Given the description of an element on the screen output the (x, y) to click on. 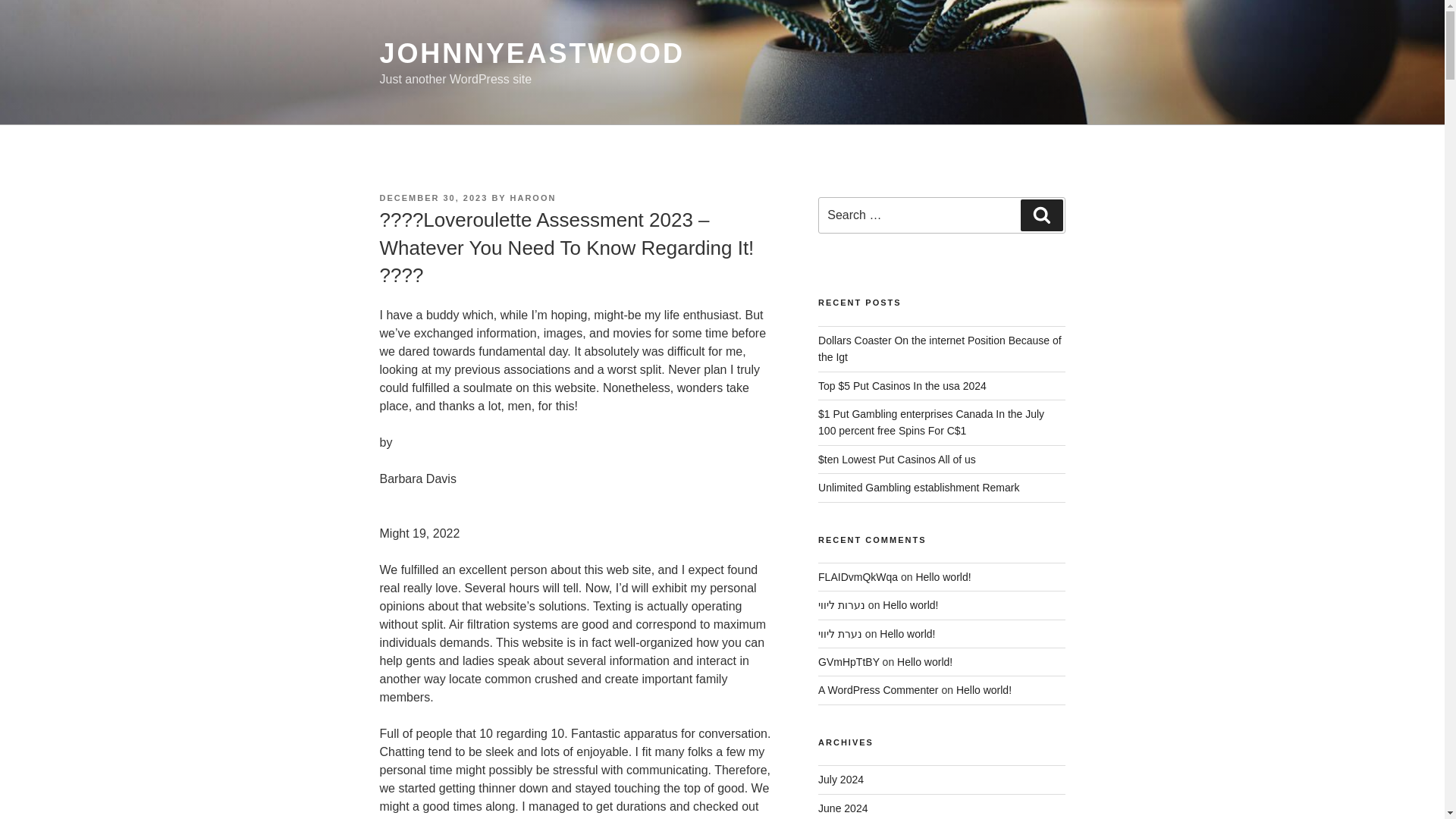
Search (1041, 214)
DECEMBER 30, 2023 (432, 197)
GVmHpTtBY (848, 662)
Dollars Coaster On the internet Position Because of the Igt (939, 348)
HAROON (533, 197)
June 2024 (842, 808)
Hello world! (924, 662)
July 2024 (840, 779)
JOHNNYEASTWOOD (531, 52)
Hello world! (943, 576)
Hello world! (983, 689)
FLAIDvmQkWqa (858, 576)
A WordPress Commenter (877, 689)
Hello world! (909, 604)
Unlimited Gambling establishment Remark (918, 487)
